Given the description of an element on the screen output the (x, y) to click on. 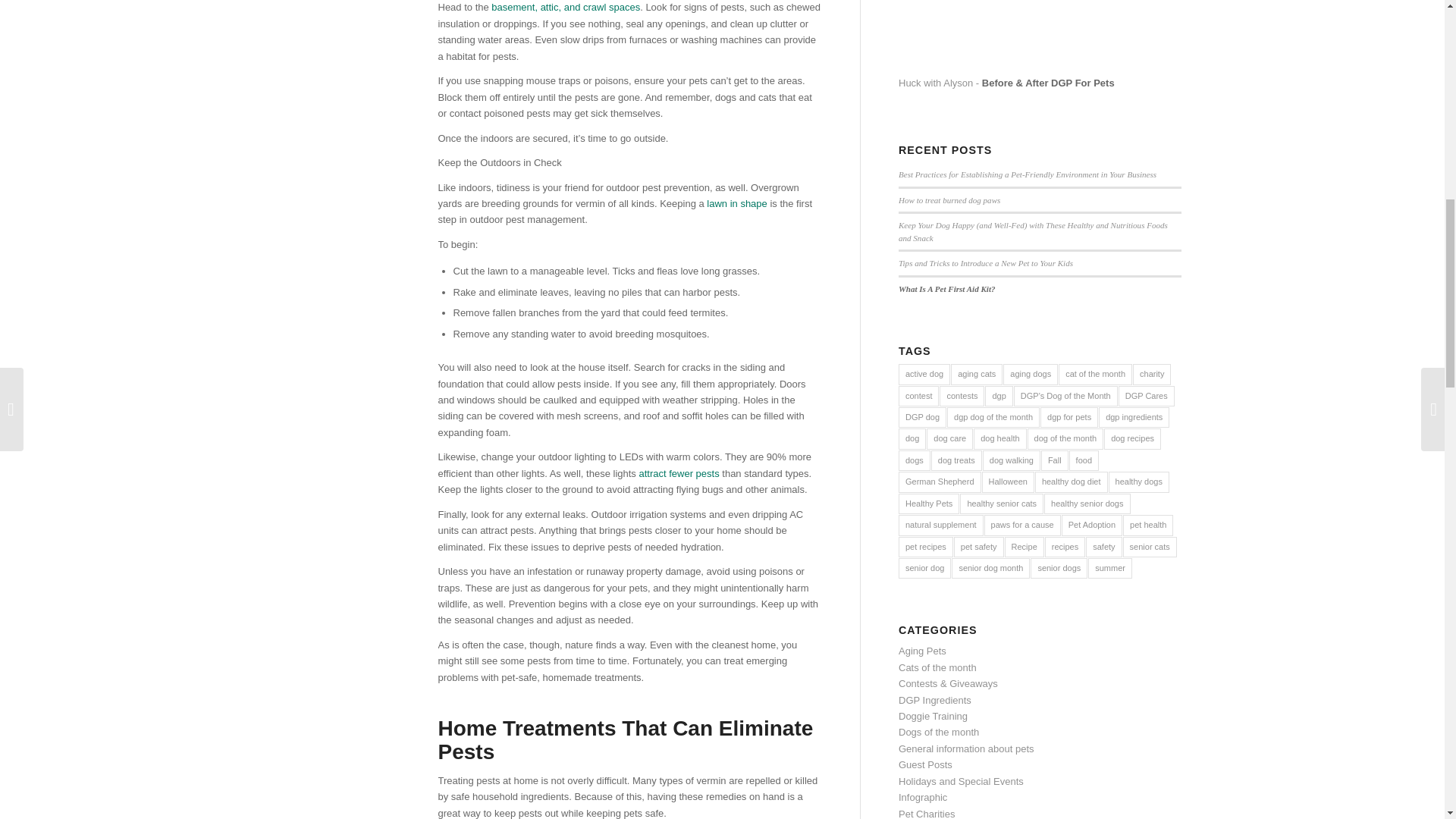
basement, attic, and crawl spaces (566, 7)
lawn in shape (736, 203)
attract fewer pests (679, 473)
